Given the description of an element on the screen output the (x, y) to click on. 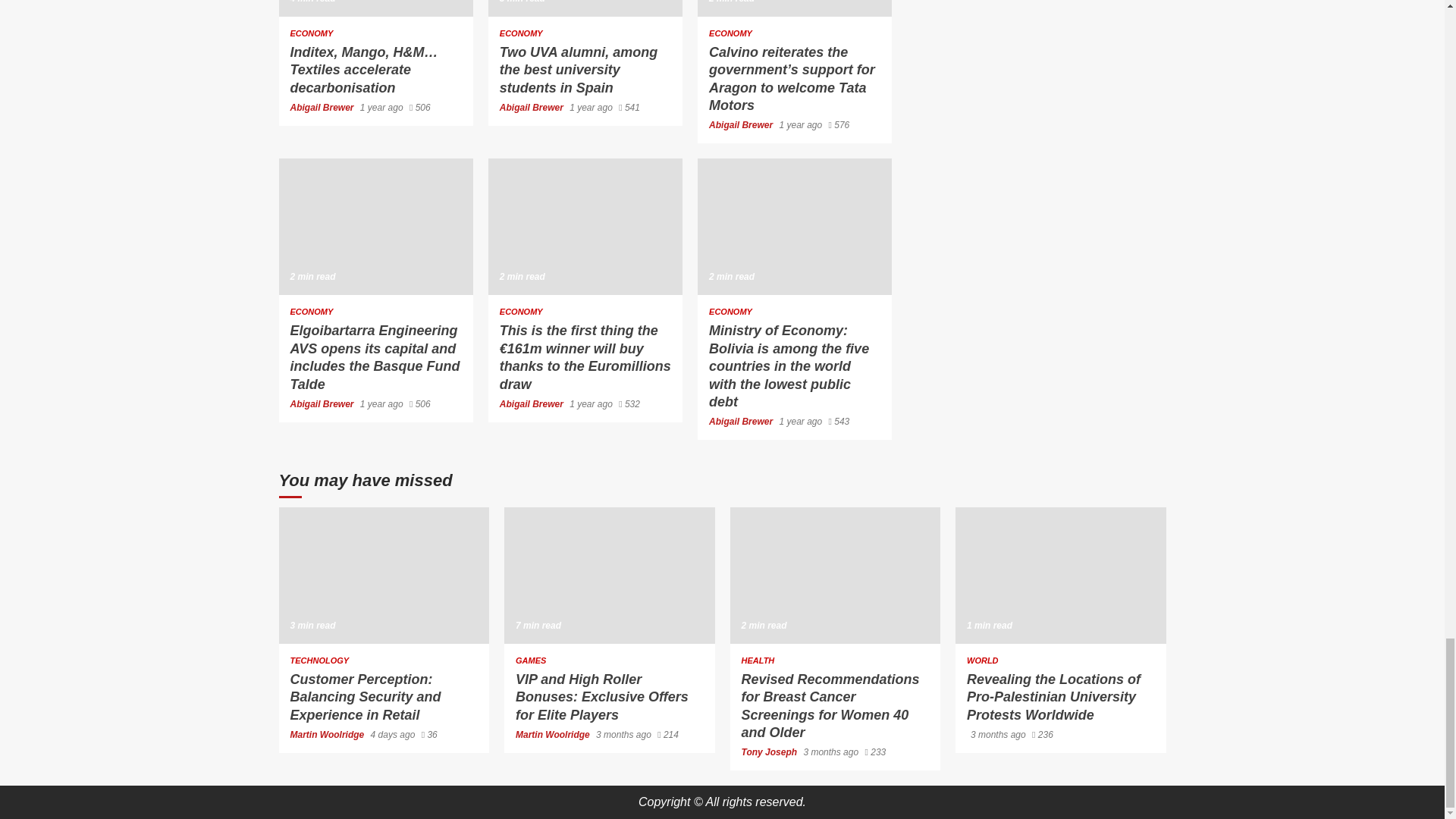
ECONOMY (311, 33)
506 (419, 107)
ECONOMY (521, 33)
Two UVA alumni, among the best university students in Spain (584, 8)
Abigail Brewer (322, 107)
Abigail Brewer (532, 107)
Abigail Brewer (741, 124)
Two UVA alumni, among the best university students in Spain (578, 70)
541 (629, 107)
ECONOMY (730, 33)
